Given the description of an element on the screen output the (x, y) to click on. 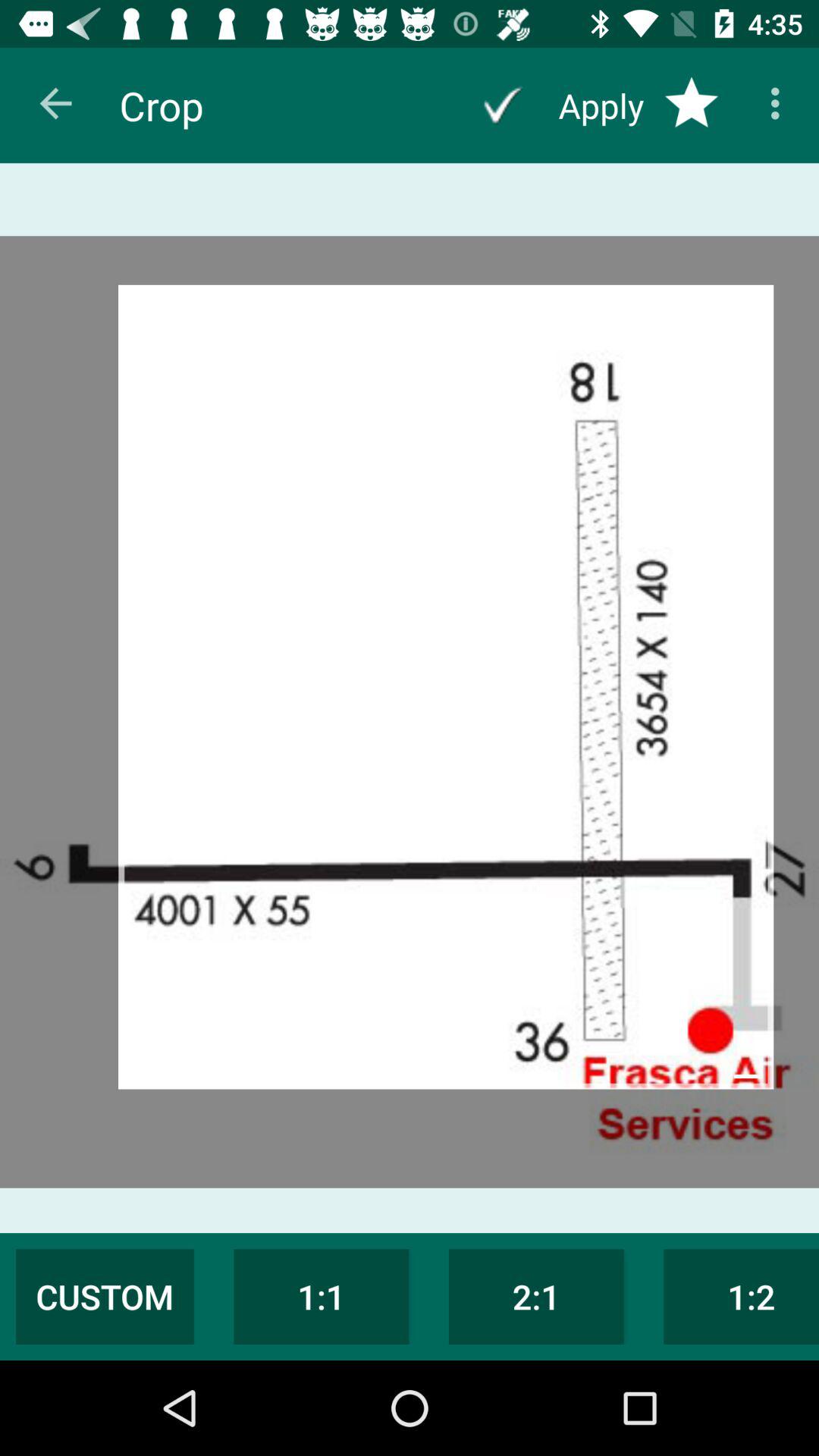
apply (502, 105)
